Given the description of an element on the screen output the (x, y) to click on. 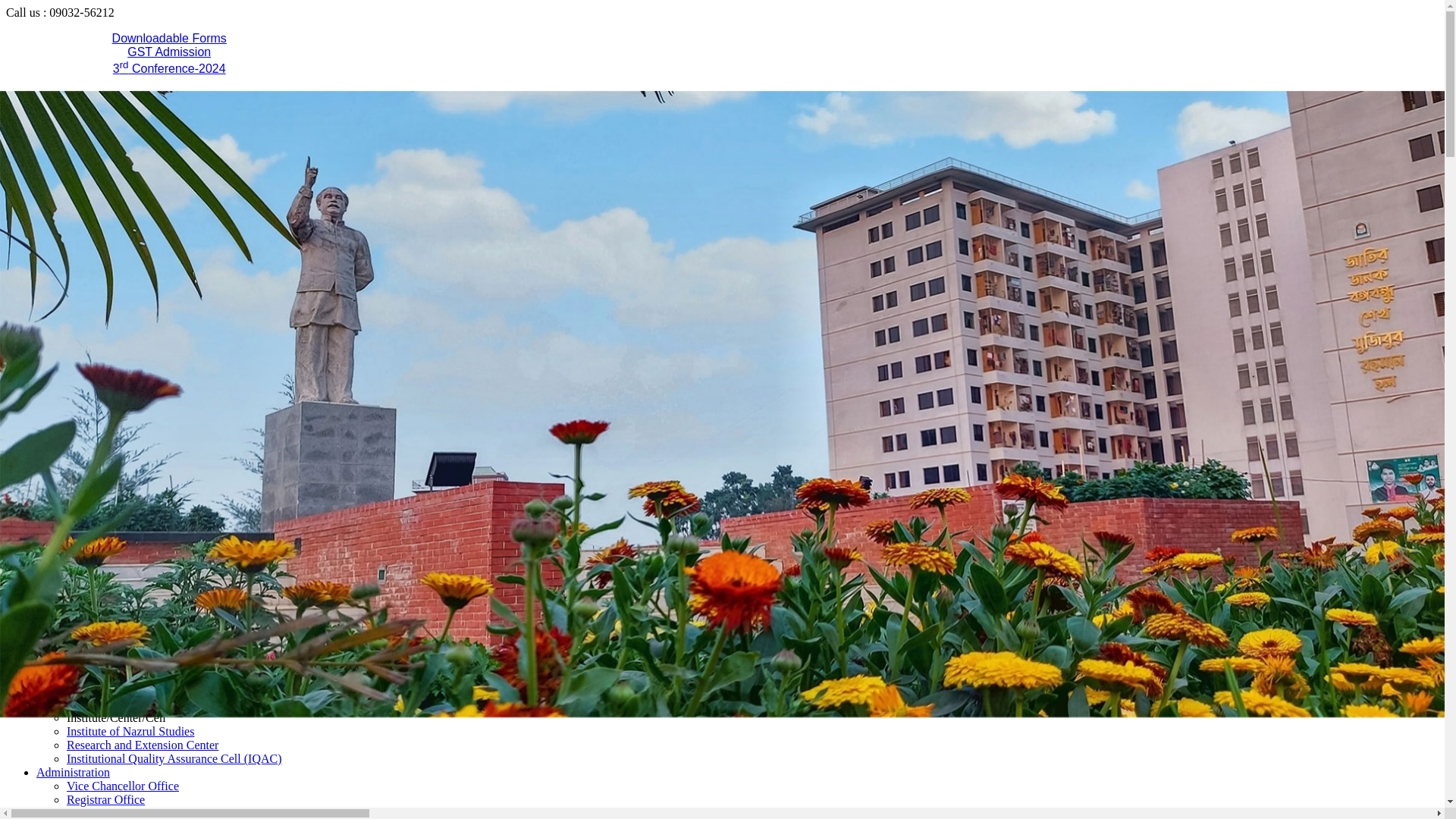
Research and Extension Center Element type: text (142, 744)
Sociology Element type: text (91, 567)
Marketing Element type: text (91, 703)
Theatre and Performance Studies Element type: text (147, 294)
Citizens Charter Element type: text (169, 95)
Human Resource Management Element type: text (141, 676)
Electrical and Electronic Engineering Element type: text (157, 417)
Music Element type: text (81, 280)
Accounting and Information Systems Element type: text (157, 649)
Academics Element type: text (63, 212)
Vice Chancellor Office Element type: text (122, 785)
Film and Media Element type: text (105, 307)
Statistics Element type: text (88, 444)
Management Element type: text (98, 690)
3rd Conference-2024 Element type: text (168, 68)
Environmental Science and Engineering Element type: text (164, 430)
Registrar Office Element type: text (105, 799)
Law and Justice Element type: text (105, 608)
Population Science Element type: text (113, 539)
Local Government and Urban Development Element type: text (173, 553)
Dean Office Element type: text (95, 239)
Finance and Banking Element type: text (117, 662)
Institute of Nazrul Studies Element type: text (130, 730)
Fine Arts Element type: text (88, 362)
Bangla Language and Literature Element type: text (144, 253)
Administration Element type: text (72, 771)
Dean Office Element type: text (95, 594)
Public Administration and Governance Studies Element type: text (180, 498)
Home Element type: text (50, 198)
Anthropology Element type: text (100, 526)
Economics Element type: text (93, 485)
Dean Office Element type: text (95, 348)
Dean Office Element type: text (95, 635)
GST Admission Element type: text (168, 51)
Institutional Quality Assurance Cell (IQAC) Element type: text (174, 758)
Downloadable Forms Element type: text (169, 37)
English Language and Literature Element type: text (145, 266)
Philosophy Element type: text (93, 321)
Dean Office Element type: text (95, 389)
Dean Office Element type: text (95, 471)
Computer Science and Engineering Element type: text (152, 403)
Folklore Element type: text (86, 512)
